Given the description of an element on the screen output the (x, y) to click on. 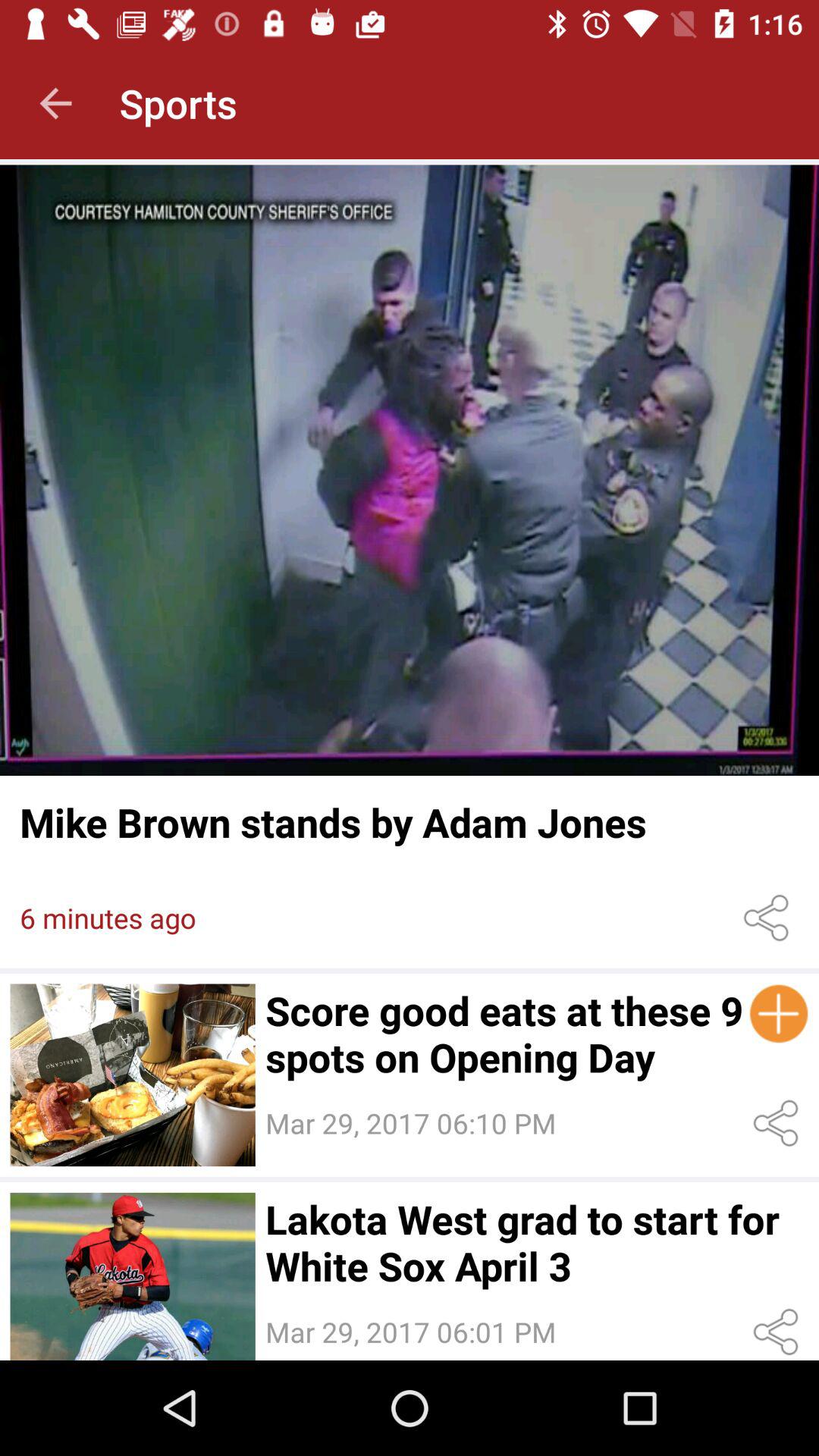
open the article (132, 1074)
